Given the description of an element on the screen output the (x, y) to click on. 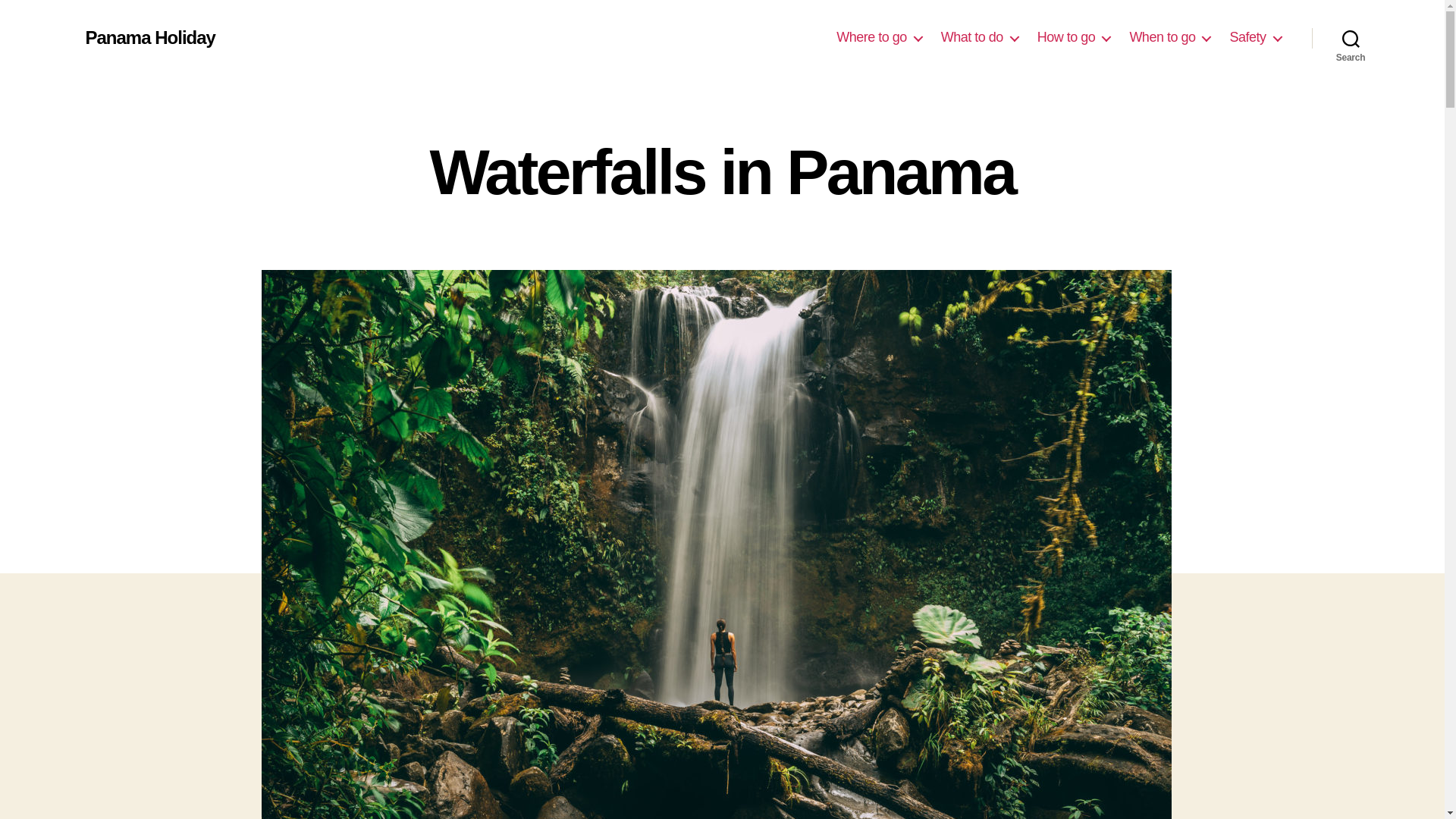
Search (1350, 37)
Panama Holiday (149, 37)
Where to go (878, 37)
How to go (1073, 37)
Safety (1254, 37)
When to go (1169, 37)
What to do (978, 37)
